Given the description of an element on the screen output the (x, y) to click on. 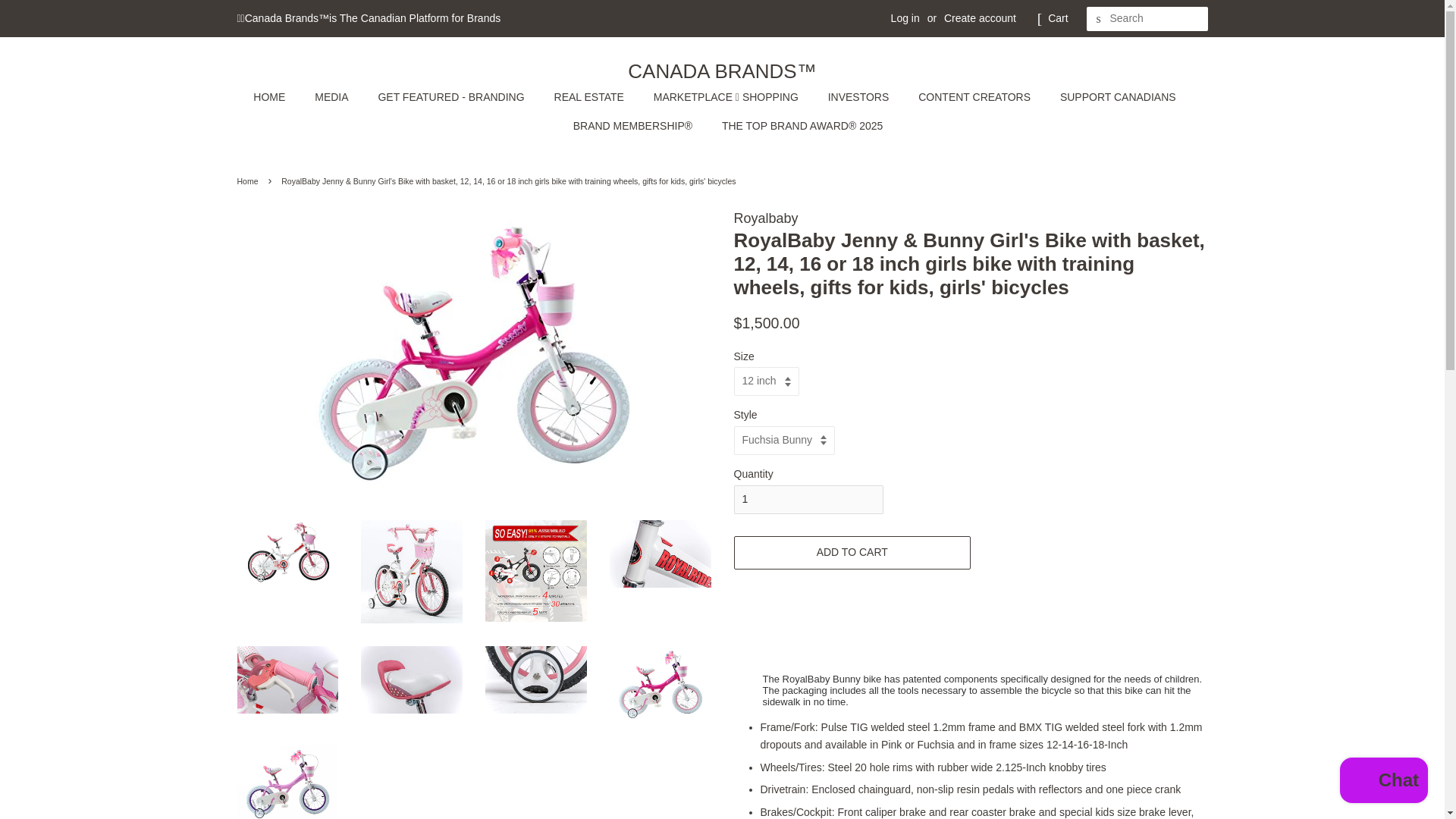
Create account (979, 18)
1 (808, 499)
HOME (276, 97)
Home (248, 180)
MEDIA (332, 97)
GET FEATURED - BRANDING (452, 97)
REAL ESTATE (591, 97)
Cart (1057, 18)
Back to the frontpage (248, 180)
INVESTORS (860, 97)
